Given the description of an element on the screen output the (x, y) to click on. 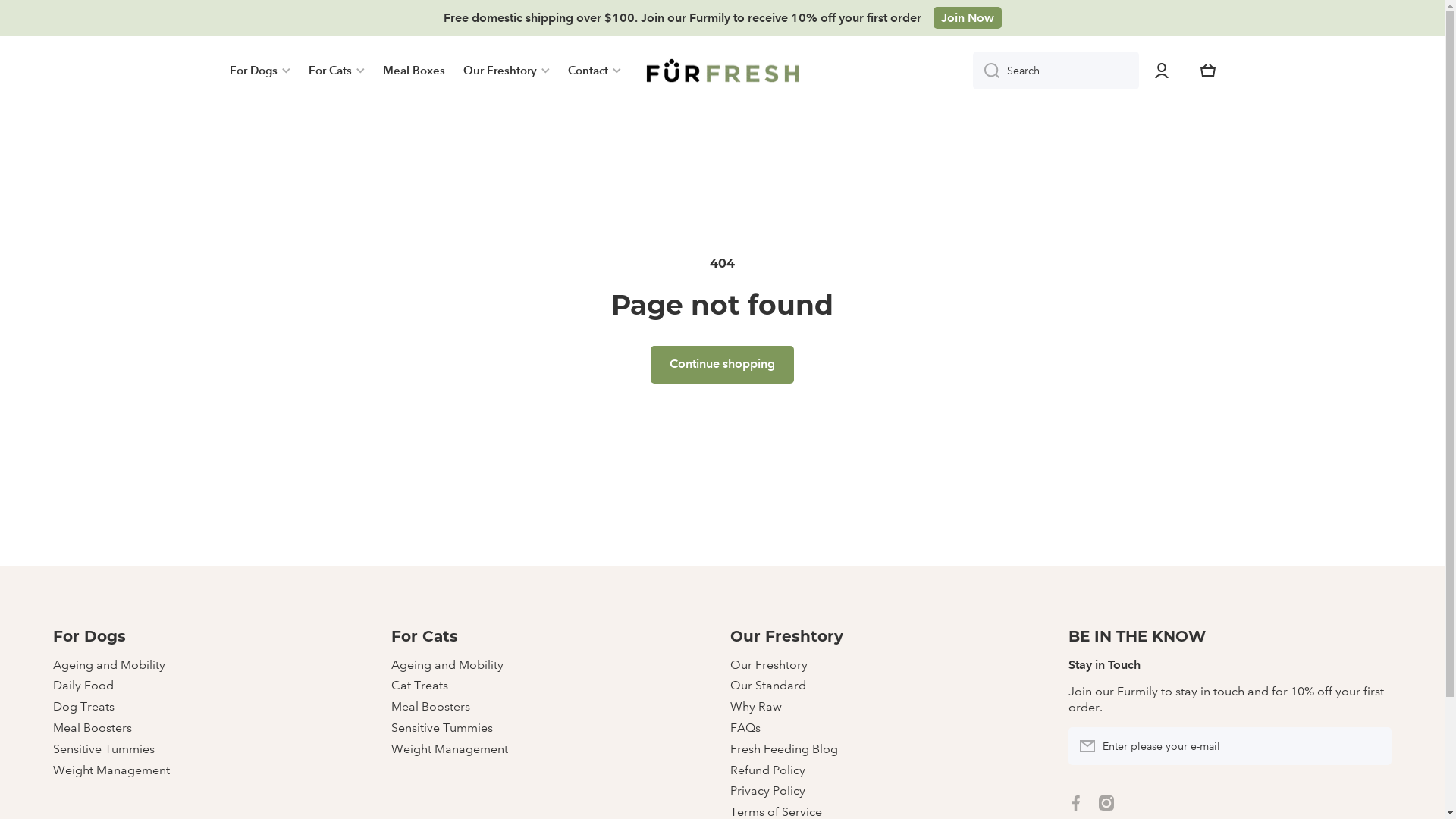
Cart Element type: text (1206, 70)
Our Freshtory Element type: text (767, 662)
Weight Management Element type: text (449, 746)
Sensitive Tummies Element type: text (103, 746)
Continue shopping Element type: text (721, 364)
For Dogs Element type: text (259, 70)
FAQs Element type: text (744, 725)
Privacy Policy Element type: text (766, 788)
For Cats Element type: text (335, 70)
Sensitive Tummies Element type: text (441, 725)
instagramcom/furfresh/ Element type: text (1105, 802)
Weight Management Element type: text (111, 767)
Meal Boosters Element type: text (430, 704)
Refund Policy Element type: text (766, 767)
Join Now Element type: text (966, 17)
Dog Treats Element type: text (83, 704)
Our Standard Element type: text (767, 682)
Contact Element type: text (593, 70)
Why Raw Element type: text (755, 704)
Daily Food Element type: text (83, 682)
Log in Element type: text (1161, 70)
Ageing and Mobility Element type: text (447, 662)
Meal Boxes Element type: text (413, 70)
Fresh Feeding Blog Element type: text (783, 746)
Cat Treats Element type: text (419, 682)
facebookcom/furfresh/ Element type: text (1075, 802)
Ageing and Mobility Element type: text (109, 662)
Meal Boosters Element type: text (92, 725)
Our Freshtory Element type: text (505, 70)
